Given the description of an element on the screen output the (x, y) to click on. 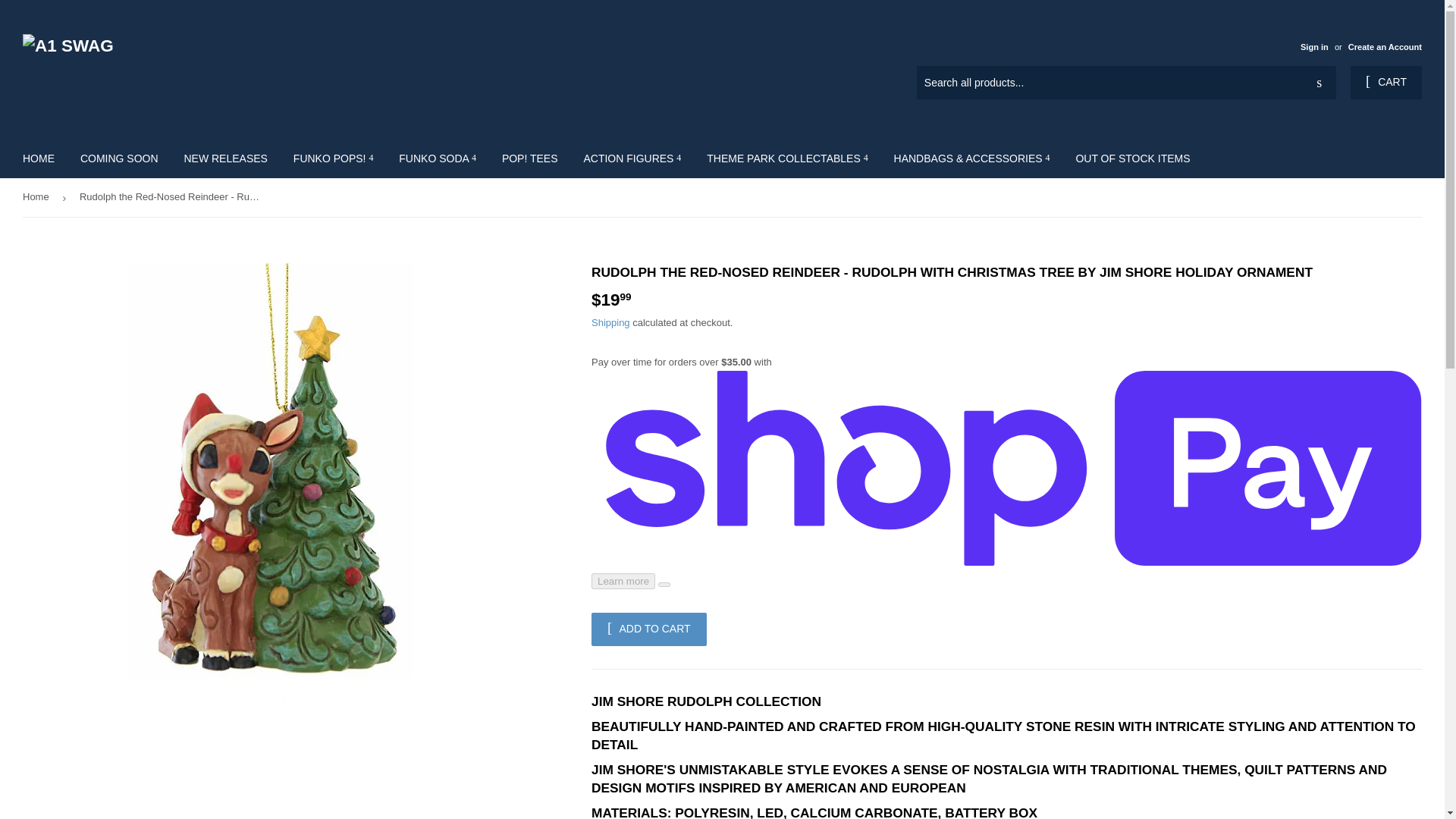
Search (1318, 83)
Sign in (1313, 46)
Create an Account (1385, 46)
CART (1386, 82)
